Given the description of an element on the screen output the (x, y) to click on. 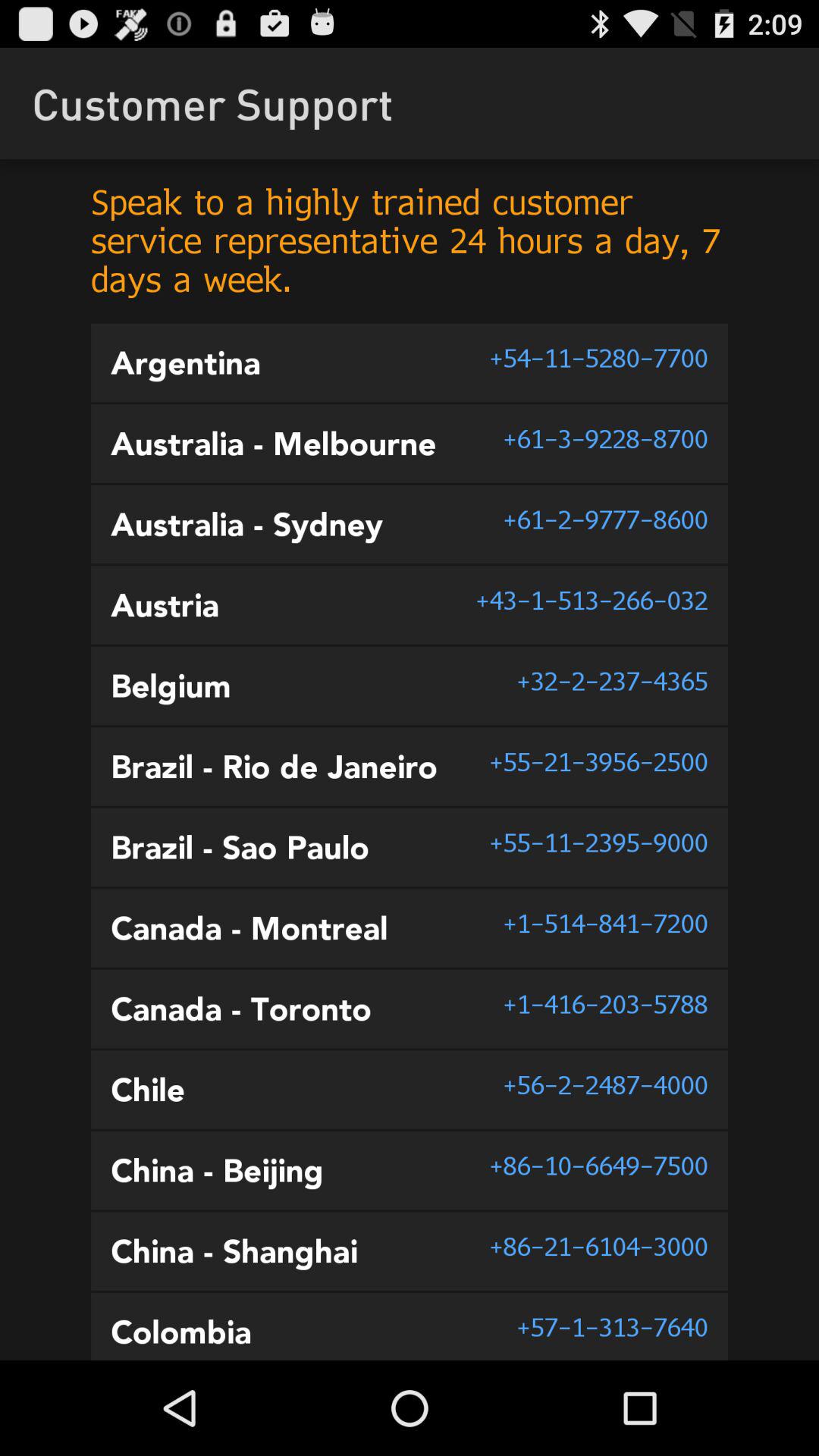
turn on item to the right of china - shanghai item (598, 1245)
